Given the description of an element on the screen output the (x, y) to click on. 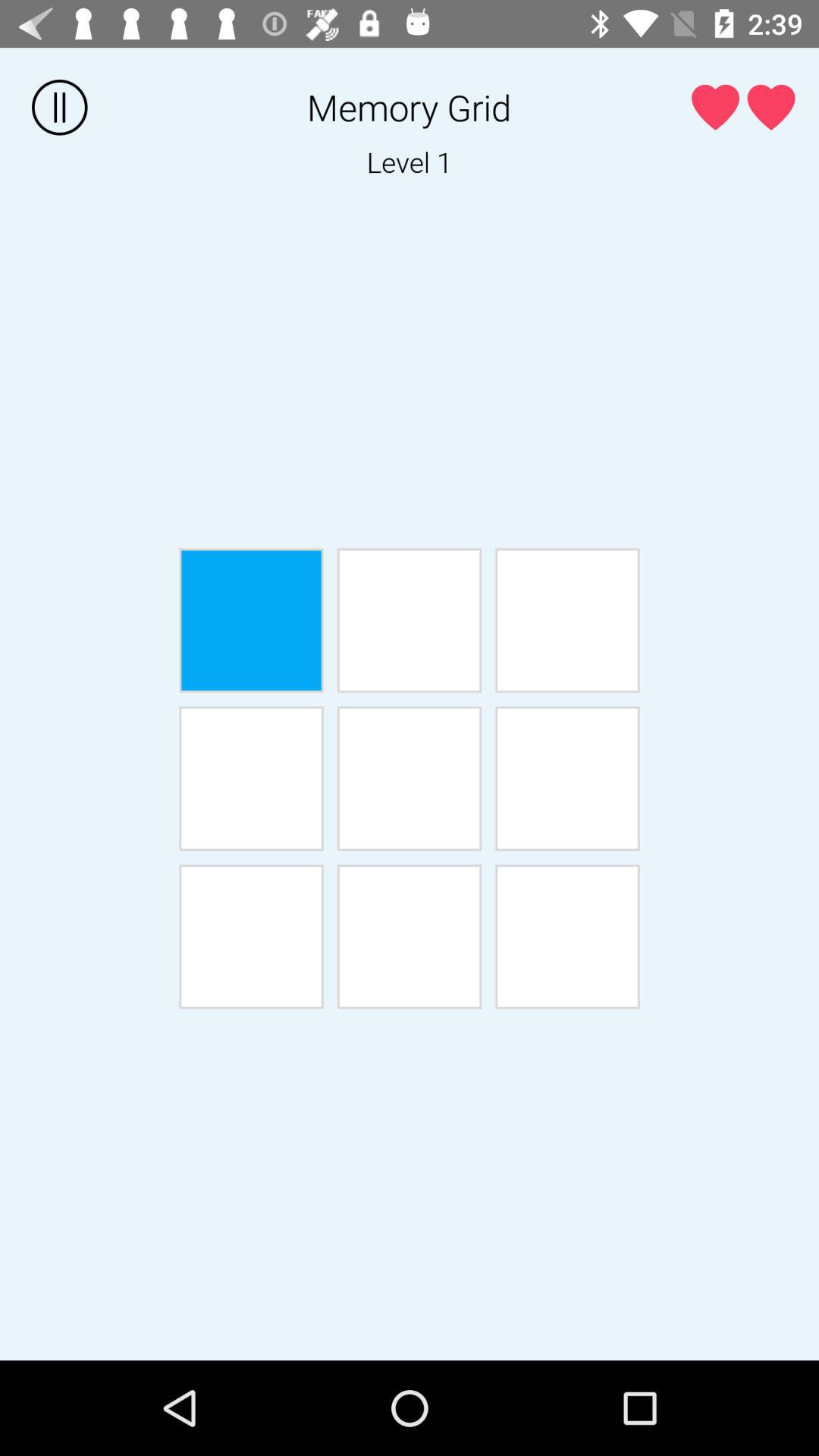
select square (567, 620)
